Given the description of an element on the screen output the (x, y) to click on. 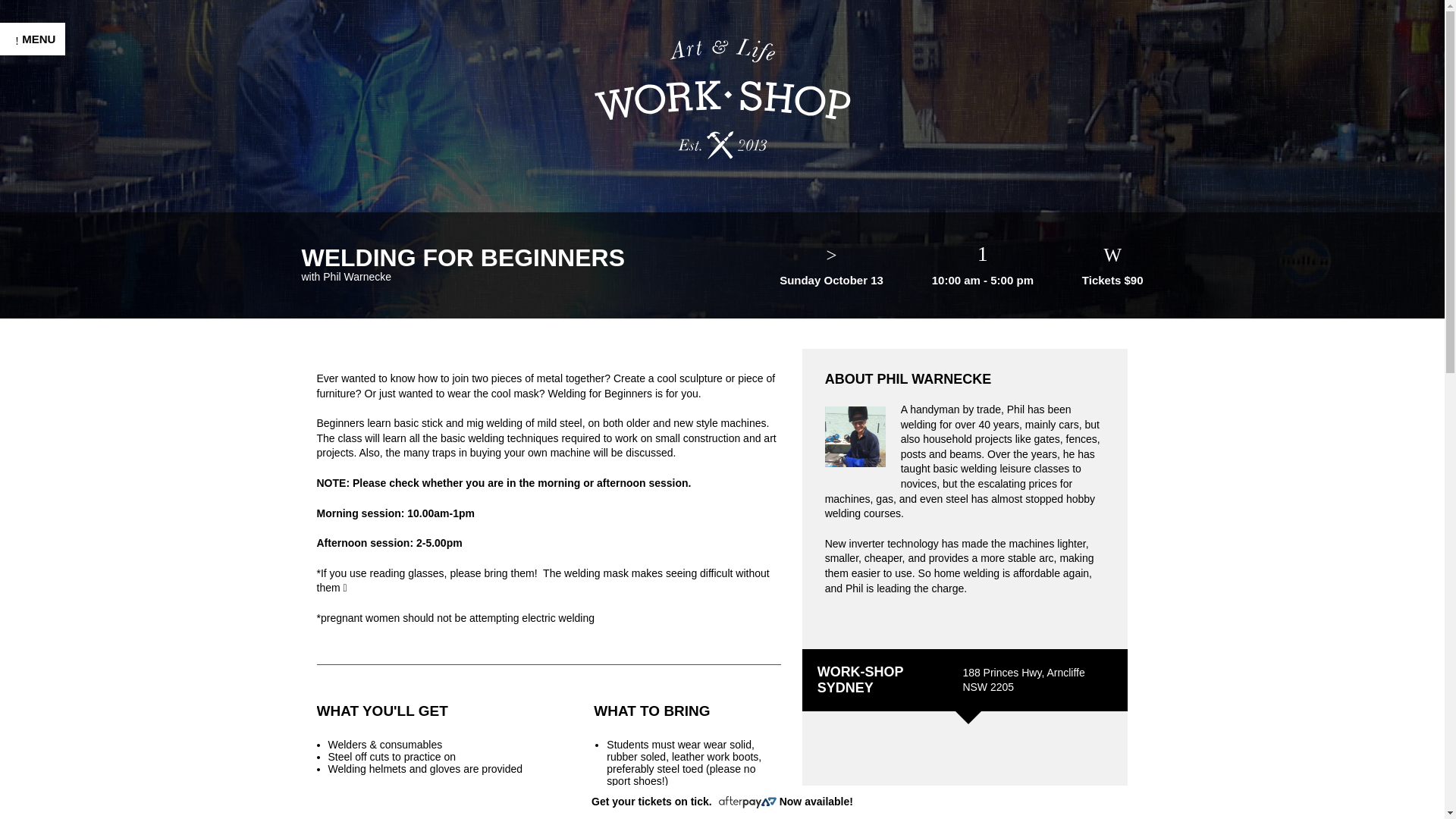
HENS ACTIVITIES (72, 299)
HOME (35, 206)
MENU (32, 38)
TEACH (37, 471)
CONTACT (47, 595)
BLOG (33, 564)
MURALS (42, 362)
CLASSES (46, 237)
Work-Shop (722, 97)
Scott Lyttle (116, 799)
